Given the description of an element on the screen output the (x, y) to click on. 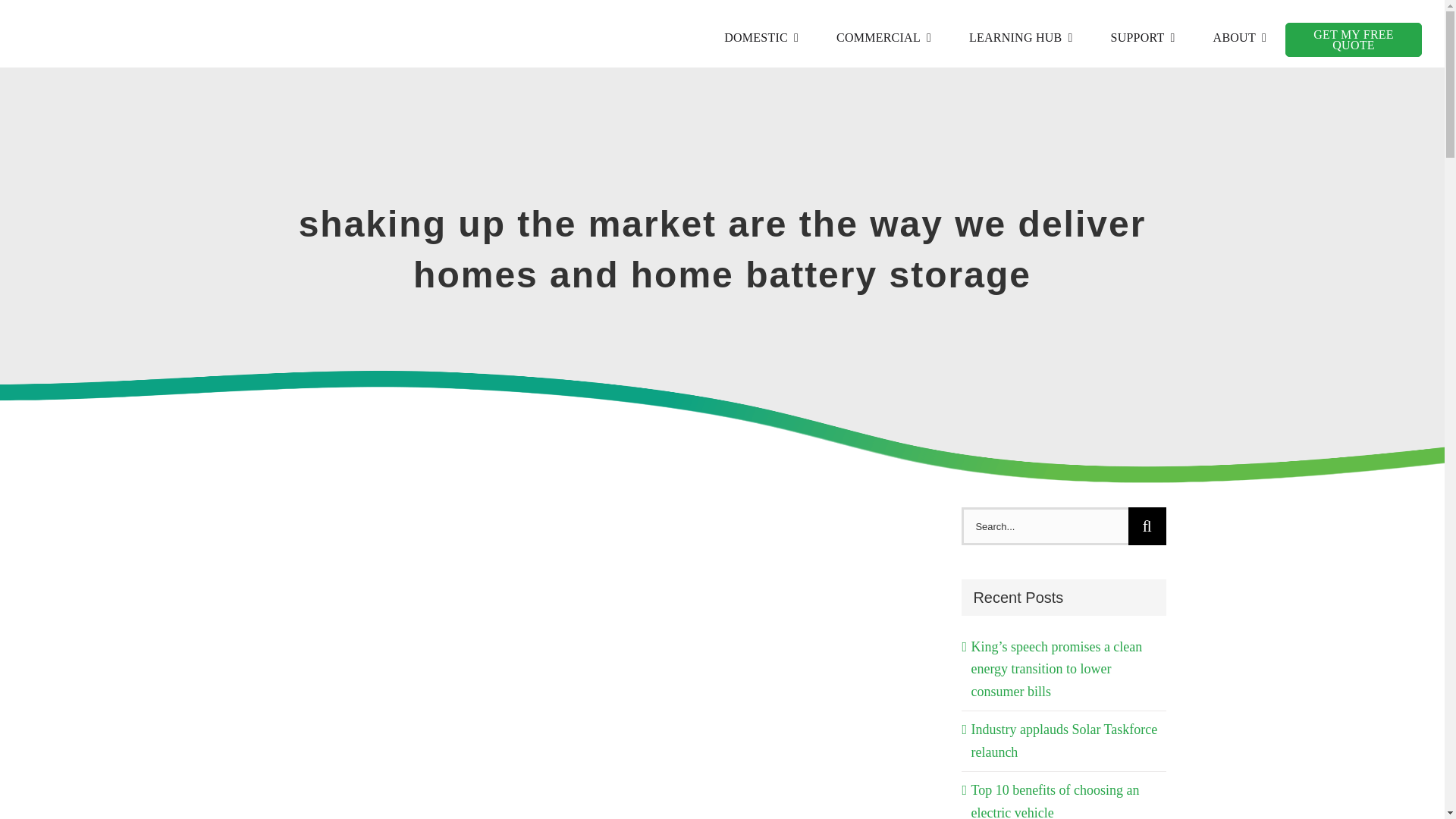
SUPPORT (1142, 38)
DOMESTIC (760, 38)
COMMERCIAL (883, 38)
ABOUT (1239, 38)
LEARNING HUB (1021, 38)
